Given the description of an element on the screen output the (x, y) to click on. 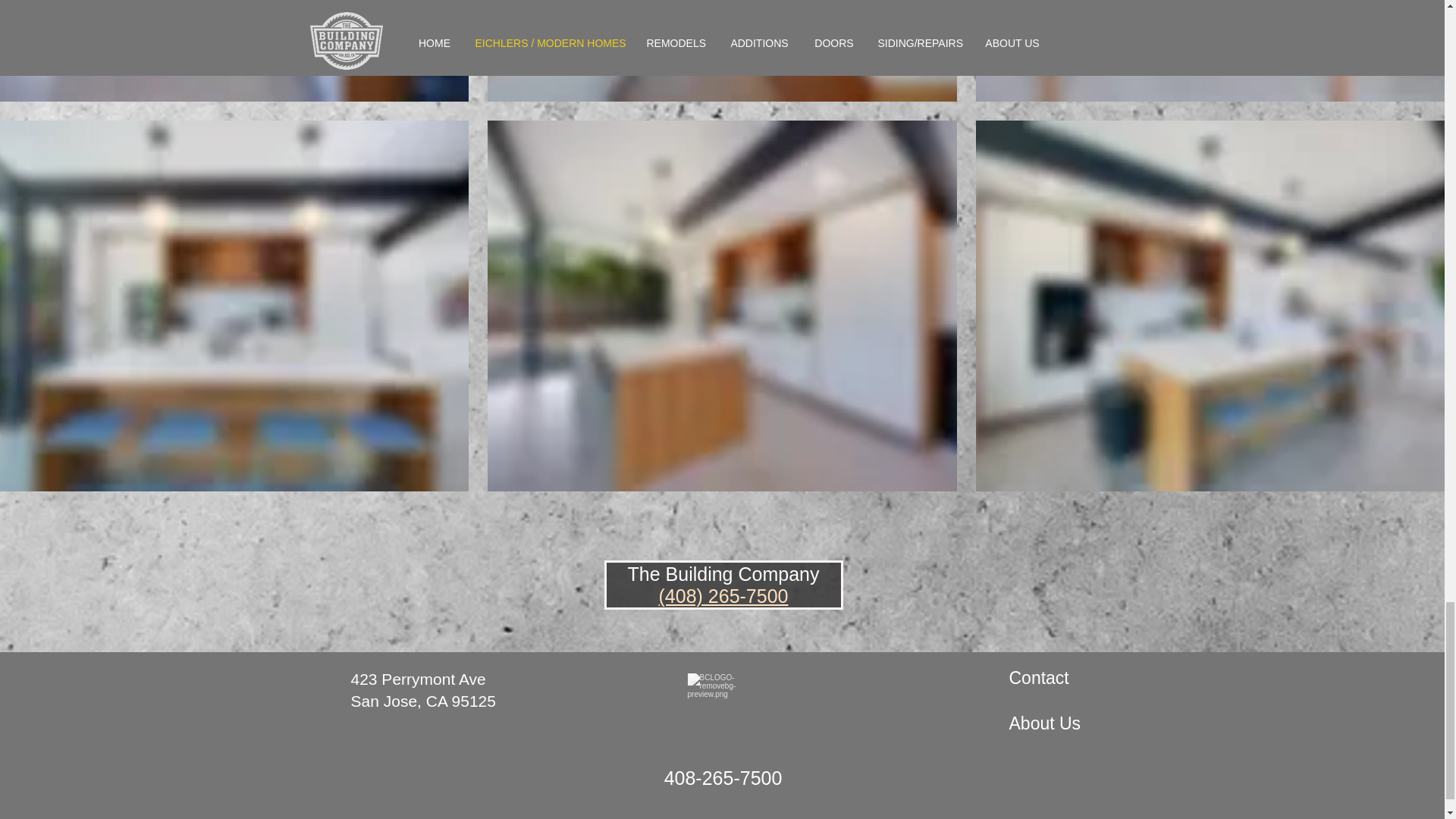
Designed by AY Web Design (1016, 817)
Contact (1038, 677)
408-265-7500 (723, 777)
About Us (1044, 723)
